Given the description of an element on the screen output the (x, y) to click on. 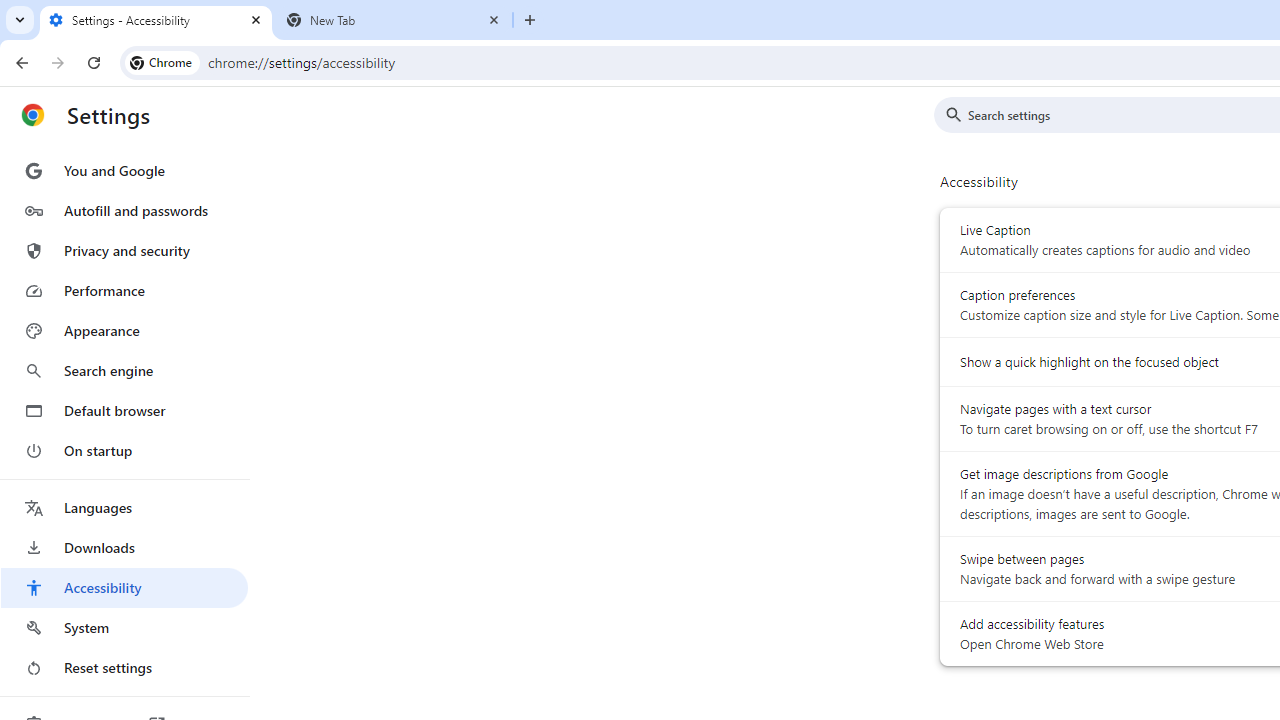
Settings - Accessibility (156, 20)
Performance (124, 290)
Languages (124, 507)
Autofill and passwords (124, 210)
Default browser (124, 410)
Accessibility (124, 587)
Appearance (124, 331)
Privacy and security (124, 250)
